Given the description of an element on the screen output the (x, y) to click on. 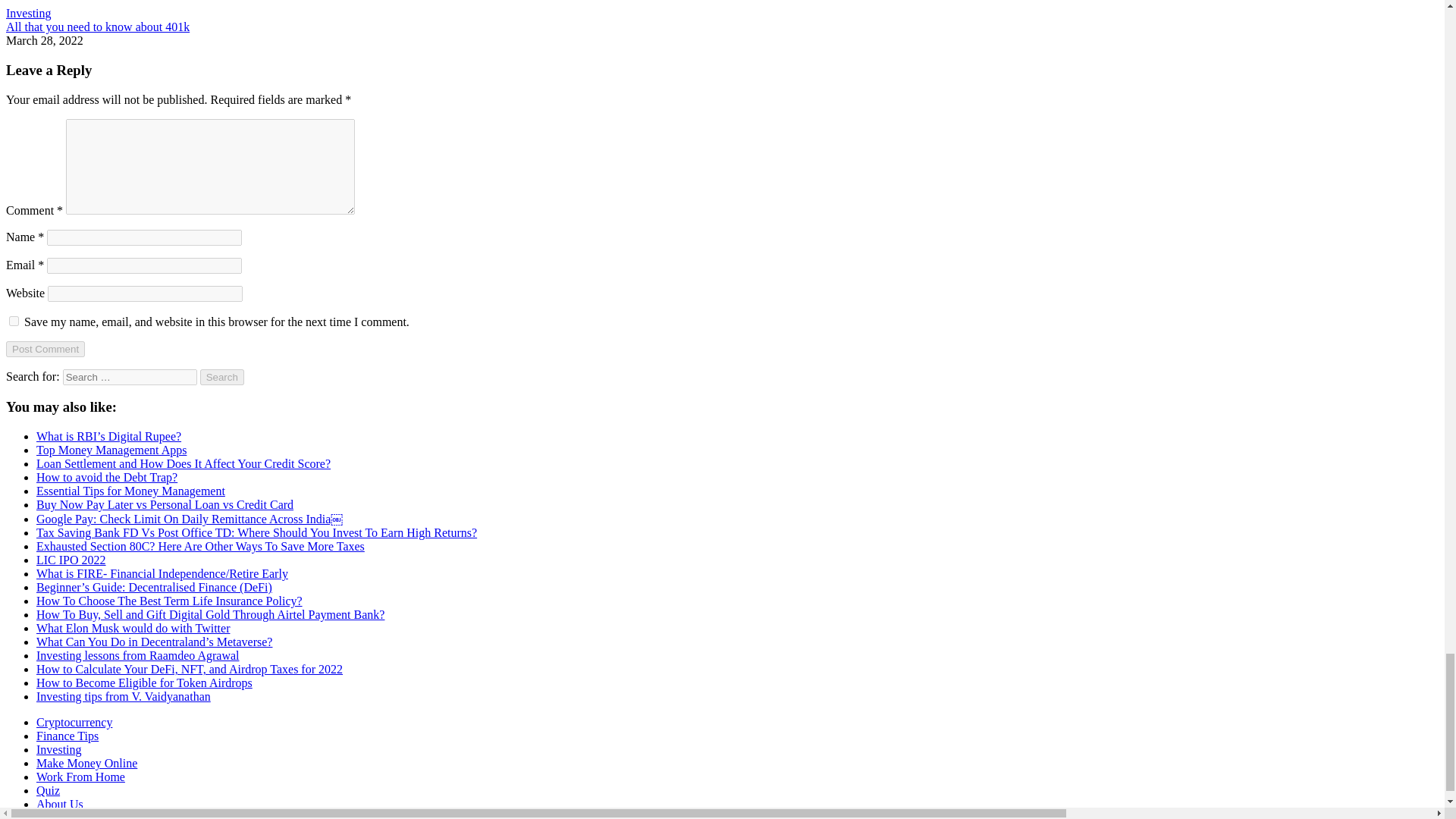
Search (222, 376)
All that you need to know about 401k (97, 26)
yes (13, 320)
Search (222, 376)
Investing (27, 12)
Post Comment (44, 349)
Search (222, 376)
Top Money Management Apps (111, 449)
Post Comment (44, 349)
